Given the description of an element on the screen output the (x, y) to click on. 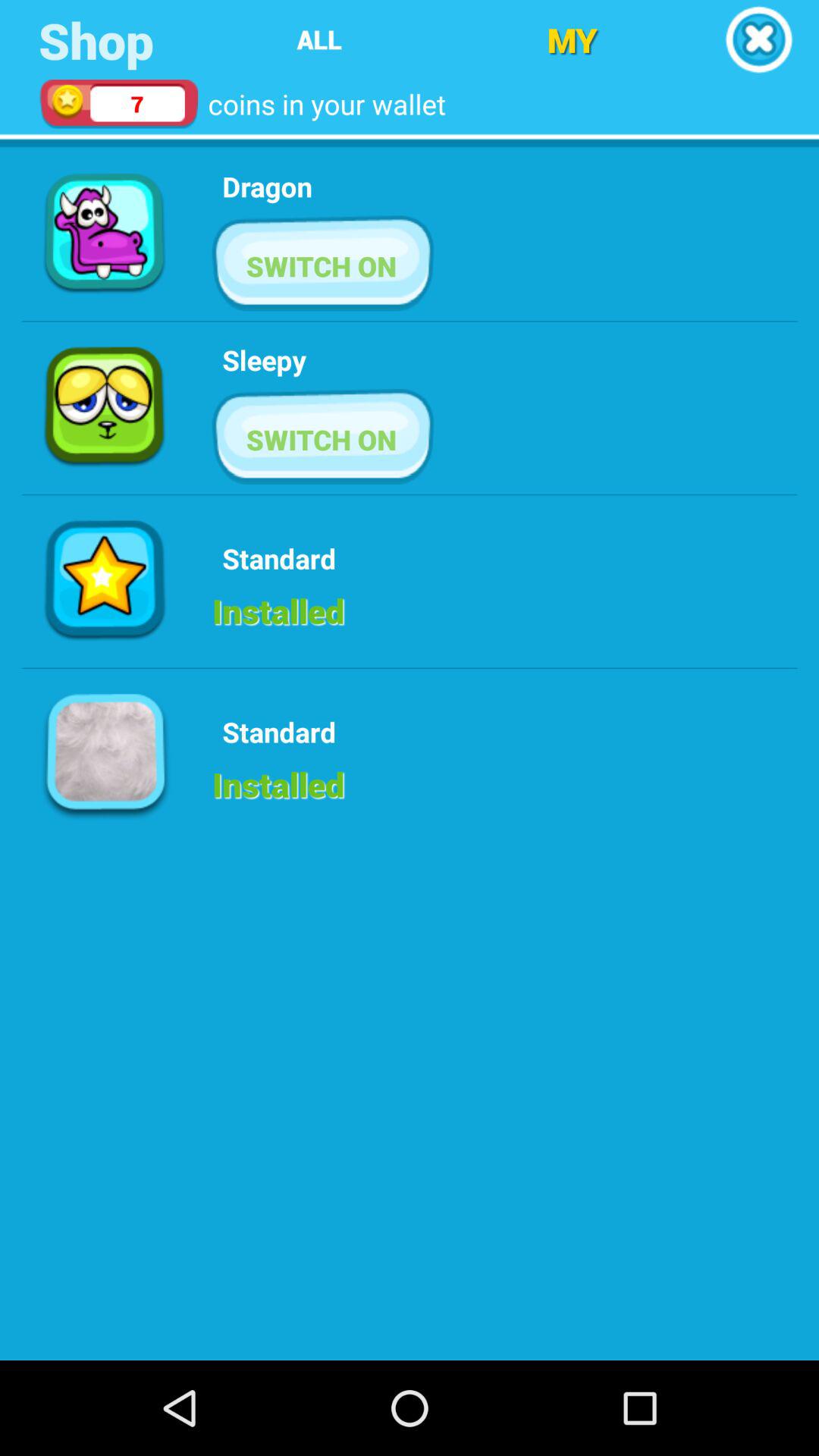
choose sleepy icon (264, 360)
